Given the description of an element on the screen output the (x, y) to click on. 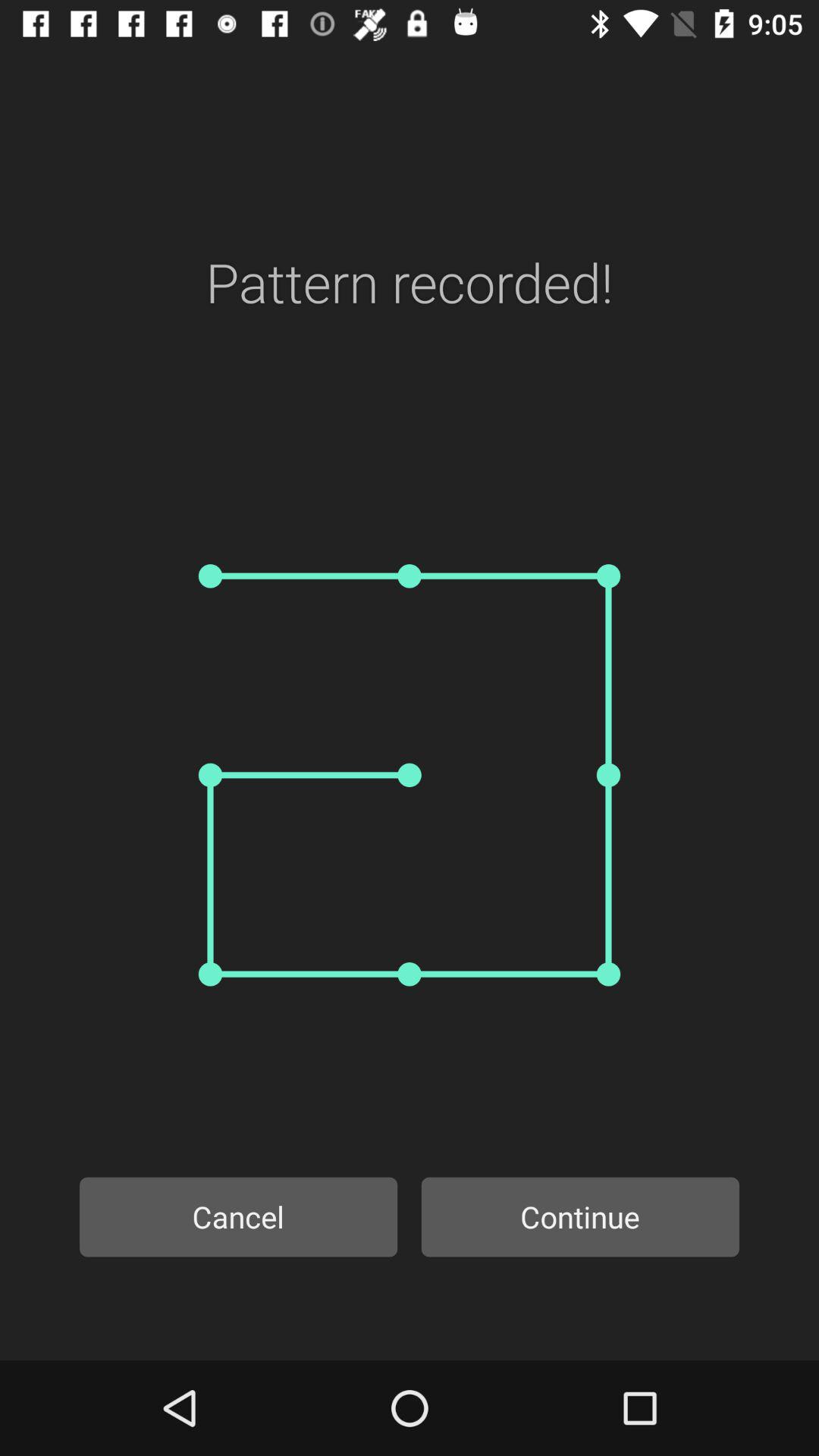
turn on the icon next to continue icon (238, 1216)
